Given the description of an element on the screen output the (x, y) to click on. 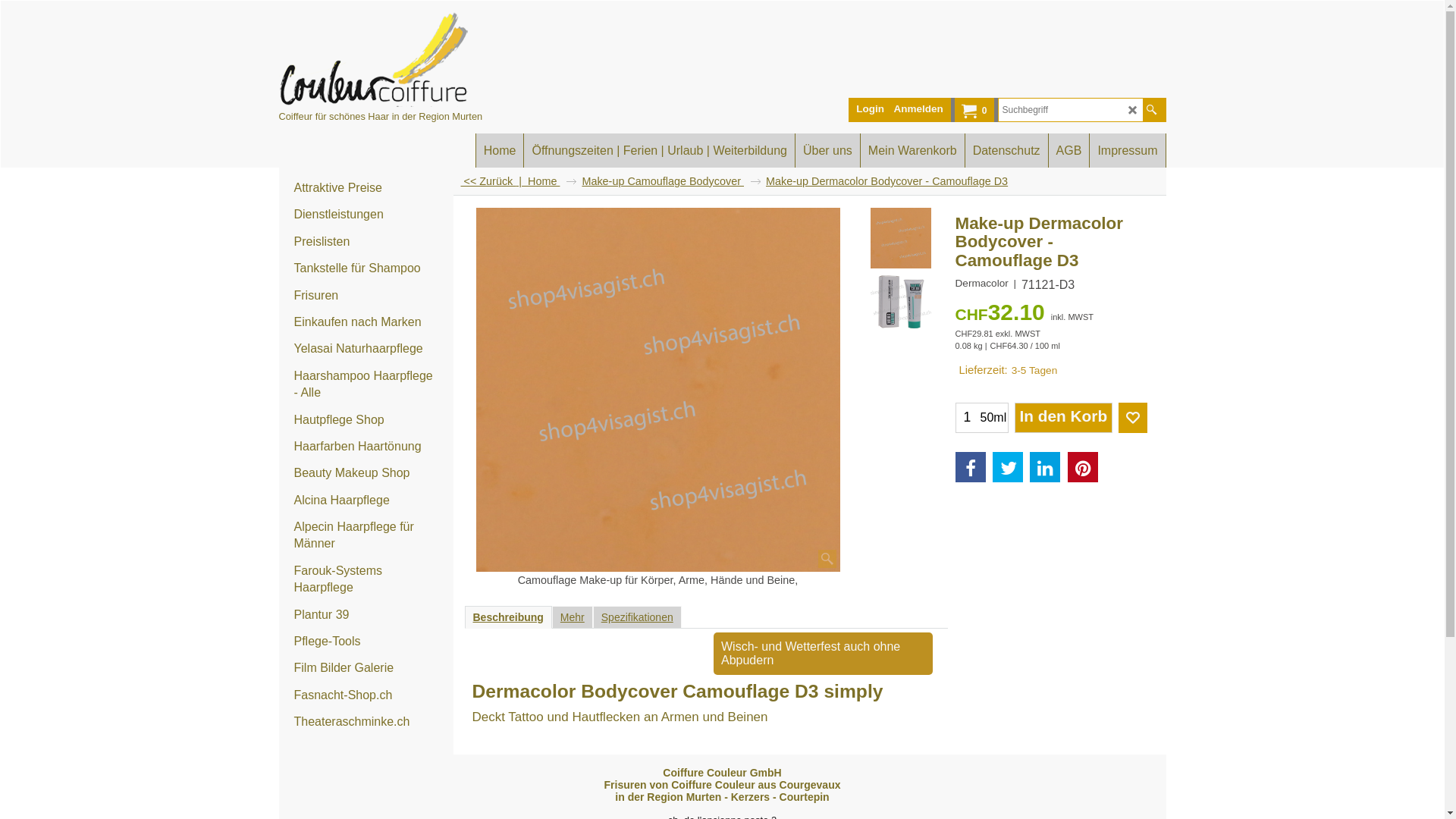
Haarshampoo Haarpflege - Alle Element type: text (365, 385)
Dermacolor Bodycover Element type: hover (900, 302)
Yelasai Naturhaarpflege Element type: text (365, 348)
Einkaufen nach Marken Element type: text (365, 322)
AGB Element type: text (1068, 150)
Beschreibung Element type: text (508, 617)
In den Korb Element type: text (1062, 417)
Film Bilder Galerie Element type: text (365, 668)
Dermacolor Bodycover Element type: hover (658, 389)
Datenschutz Element type: text (1006, 150)
Login Element type: text (870, 108)
Spezifikationen Element type: text (637, 617)
Hautpflege Shop Element type: text (365, 420)
Fasnacht-Shop.ch Element type: text (365, 695)
LD_CANCEL Element type: hover (1132, 110)
1 Element type: text (966, 417)
Facebook Element type: hover (970, 466)
Pinterest Element type: hover (1082, 466)
Make-up Camouflage Bodycover Element type: text (670, 181)
Mehr Element type: text (572, 617)
Anmelden Element type: text (918, 108)
Attraktive Preise Element type: text (365, 188)
Suche Element type: hover (1151, 109)
Dermacolor Bodycover Element type: hover (901, 302)
Dienstleistungen Element type: text (365, 214)
Mein Warenkorb Element type: text (912, 150)
Home Element type: text (500, 150)
Impressum Element type: text (1126, 150)
Theateraschminke.ch Element type: text (365, 722)
Favoriten Element type: hover (1131, 417)
Home Element type: text (551, 181)
Make-up Dermacolor Bodycover - Camouflage D3 Element type: text (1051, 257)
Alcina Haarpflege Element type: text (365, 500)
LinkedIn Element type: hover (1044, 466)
Twitter Element type: hover (1007, 466)
Frisuren Element type: text (365, 295)
Beauty Makeup Shop Element type: text (365, 473)
Pflege-Tools Element type: text (365, 641)
Farouk-Systems Haarpflege Element type: text (365, 580)
Preislisten Element type: text (365, 242)
Plantur 39 Element type: text (365, 615)
